Given the description of an element on the screen output the (x, y) to click on. 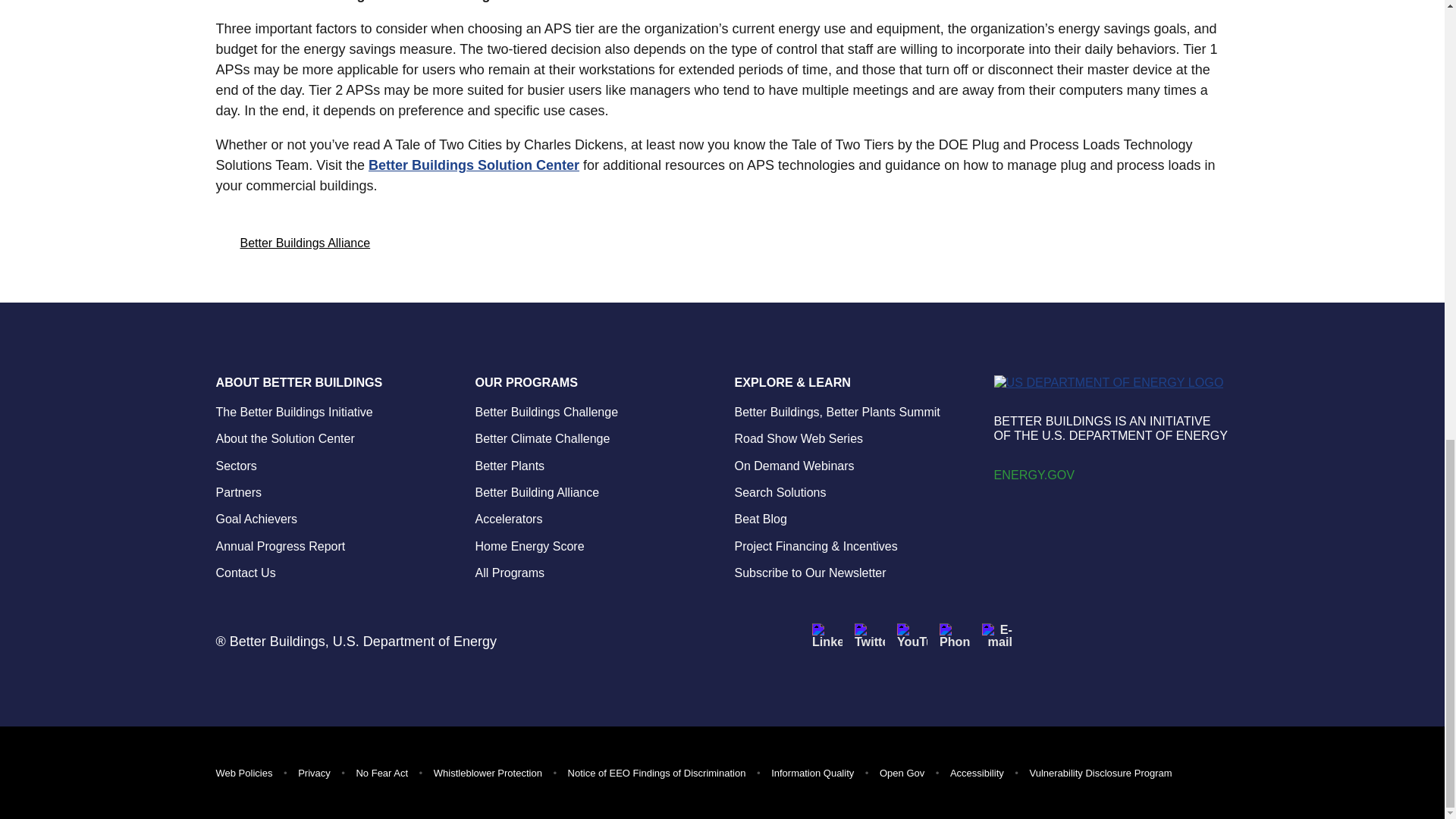
Partners (237, 492)
Better Buildings Alliance (304, 242)
Better Buildings Challenge (545, 411)
Better Buildings Solution Center (473, 165)
Better Plants (509, 465)
About the Solution Center (284, 438)
ABOUT BETTER BUILDINGS (332, 381)
The Better Buildings Initiative (293, 411)
Better Building Alliance (536, 492)
Sectors (235, 465)
Annual Progress Report (280, 545)
OUR PROGRAMS (592, 381)
Better Climate Challenge (542, 438)
Goal Achievers (256, 518)
Contact Us (245, 572)
